Given the description of an element on the screen output the (x, y) to click on. 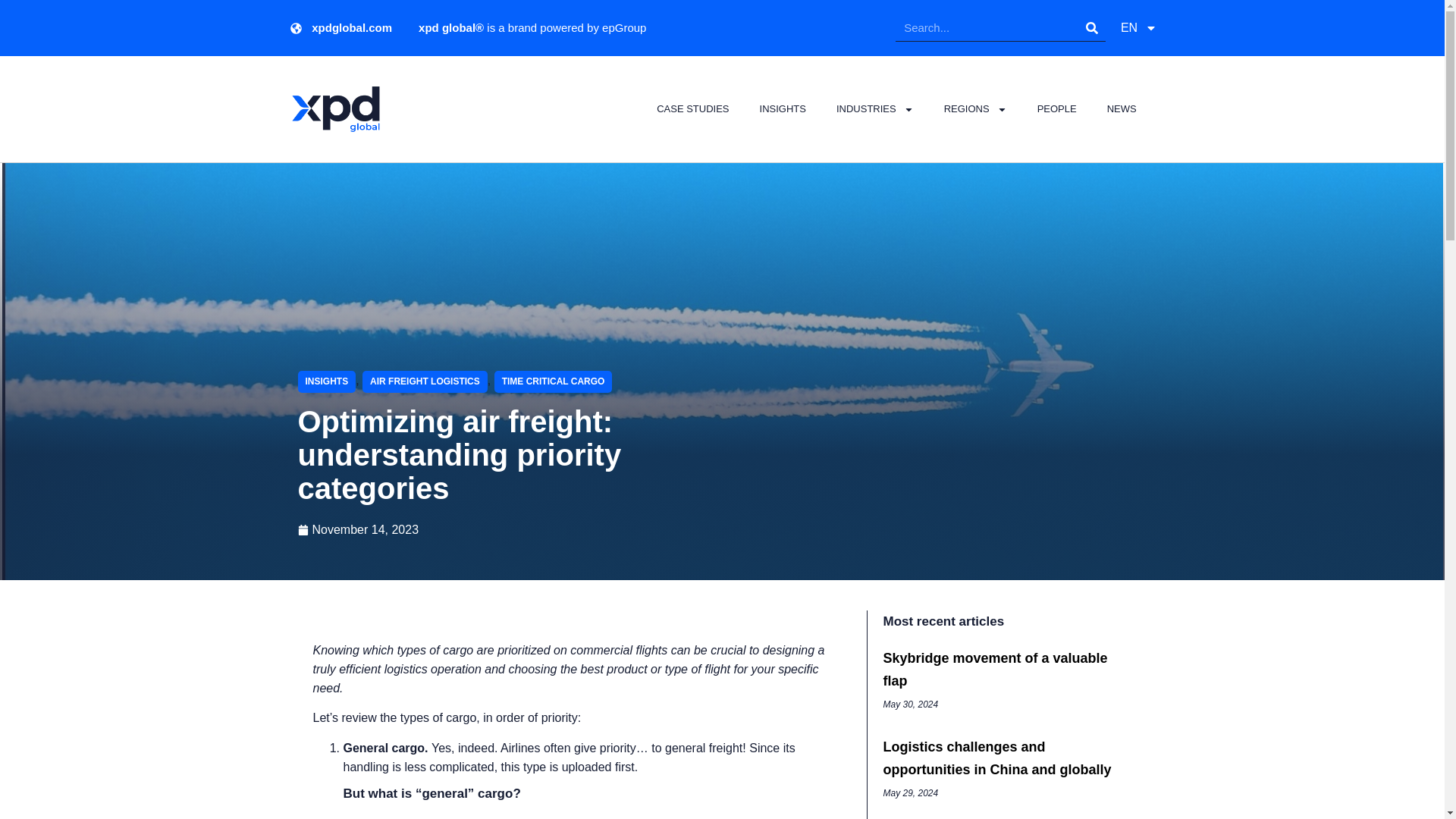
EN (1138, 27)
xpdglobal.com (340, 28)
CASE STUDIES (693, 108)
REGIONS (975, 108)
INSIGHTS (782, 108)
Search (1091, 27)
INDUSTRIES (874, 108)
Logistics challenges and opportunities in China and globally (996, 758)
Search (986, 27)
Skybridge movement of a valuable flap (994, 669)
